Given the description of an element on the screen output the (x, y) to click on. 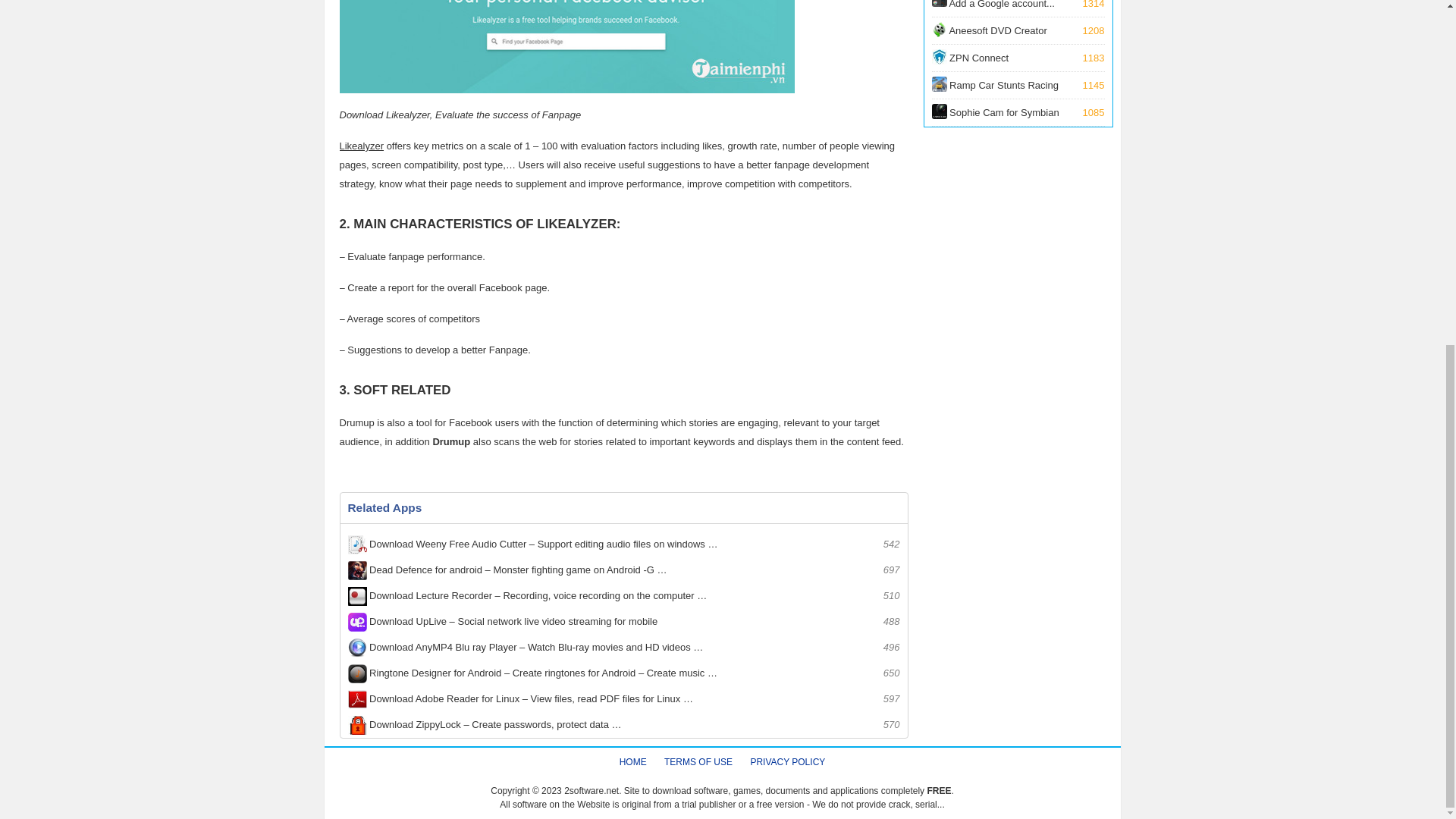
TERMS OF USE (1017, 58)
HOME (1017, 30)
